Given the description of an element on the screen output the (x, y) to click on. 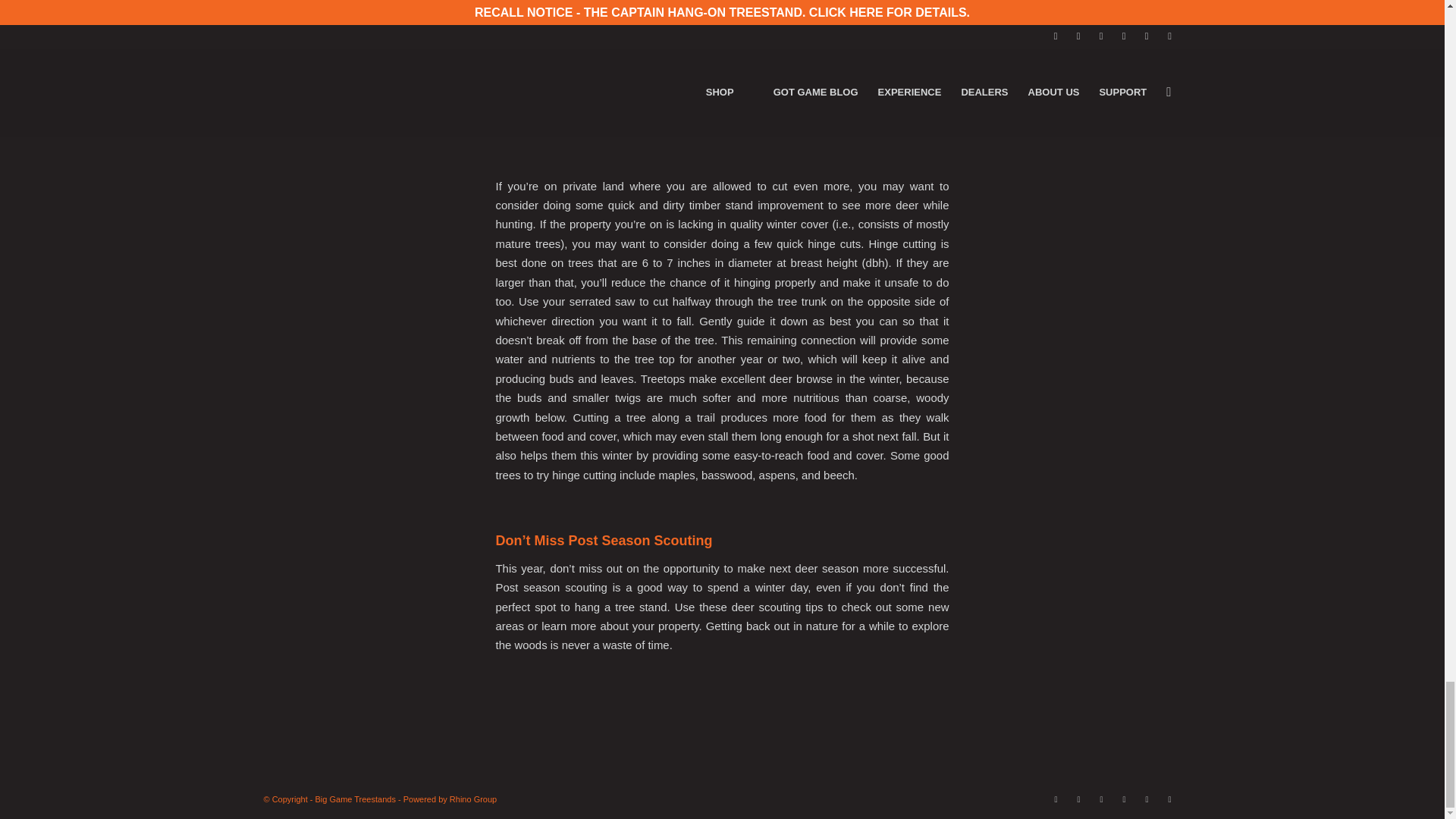
Gplus (1169, 798)
Facebook (1056, 798)
Pinterest (1124, 798)
Twitter (1078, 798)
Youtube (1146, 798)
Instagram (1101, 798)
